Given the description of an element on the screen output the (x, y) to click on. 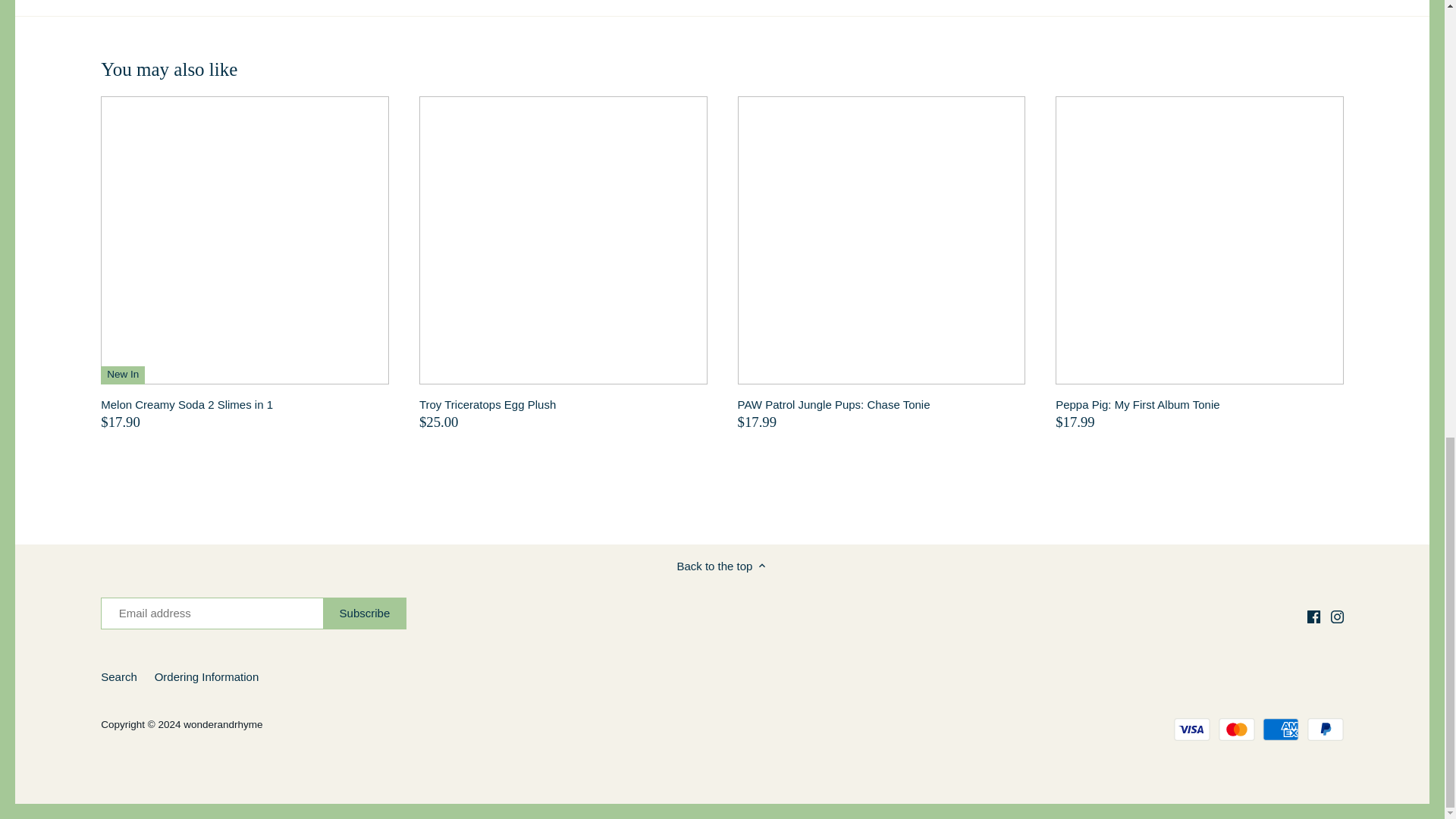
Instagram (1336, 616)
Subscribe (365, 613)
Mastercard (1236, 729)
American Express (1280, 729)
Visa (1191, 729)
Facebook (1313, 616)
PayPal (1325, 729)
